Given the description of an element on the screen output the (x, y) to click on. 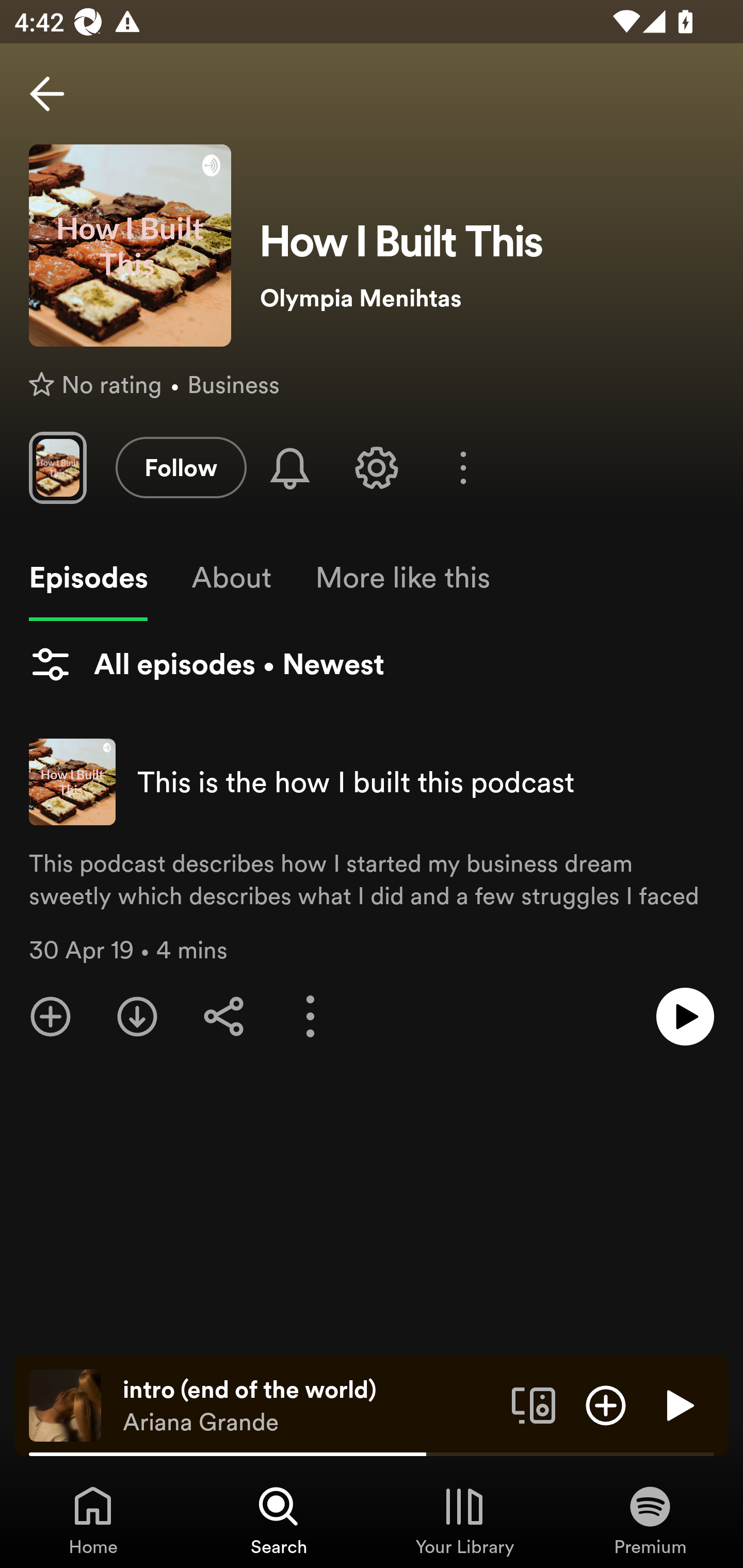
Back (46, 93)
Olympia Menihtas (487, 297)
Follow Follow this show (180, 466)
Settings for this Show. (376, 467)
More options for show How I Built This  (462, 467)
About (231, 577)
More like this (402, 577)
All episodes • Newest (206, 663)
Share (223, 1016)
Play episode: This is the how I built this podcast (684, 1016)
intro (end of the world) Ariana Grande (309, 1405)
The cover art of the currently playing track (64, 1404)
Connect to a device. Opens the devices menu (533, 1404)
Add item (605, 1404)
Play (677, 1404)
Home, Tab 1 of 4 Home Home (92, 1519)
Search, Tab 2 of 4 Search Search (278, 1519)
Your Library, Tab 3 of 4 Your Library Your Library (464, 1519)
Premium, Tab 4 of 4 Premium Premium (650, 1519)
